Given the description of an element on the screen output the (x, y) to click on. 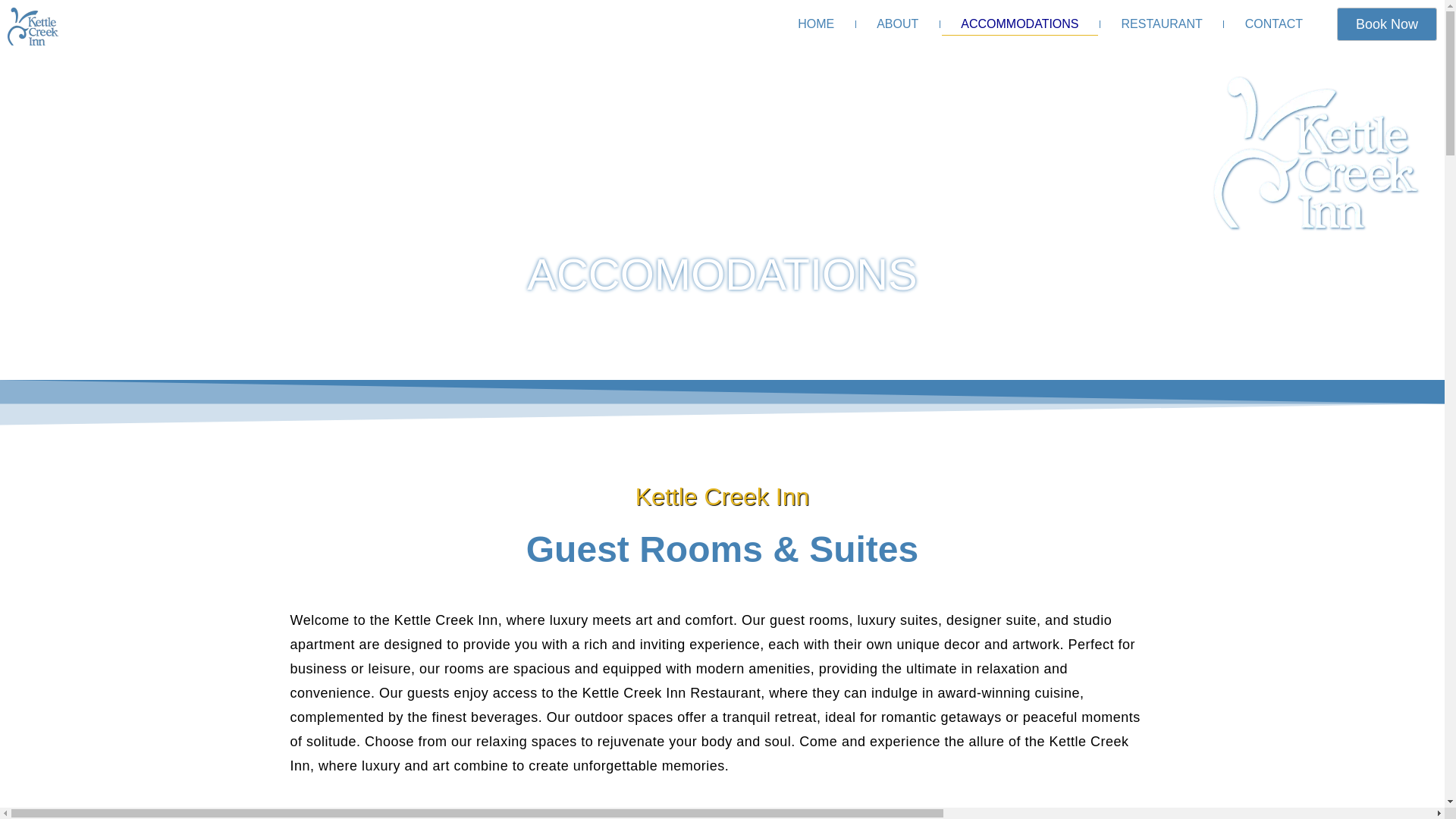
ACCOMMODATIONS (1019, 24)
RESTAURANT (1161, 24)
HOME (815, 24)
CONTACT (1273, 24)
Kettle Creek Inn Logo (32, 26)
ABOUT (897, 24)
Book Now (1386, 23)
